Given the description of an element on the screen output the (x, y) to click on. 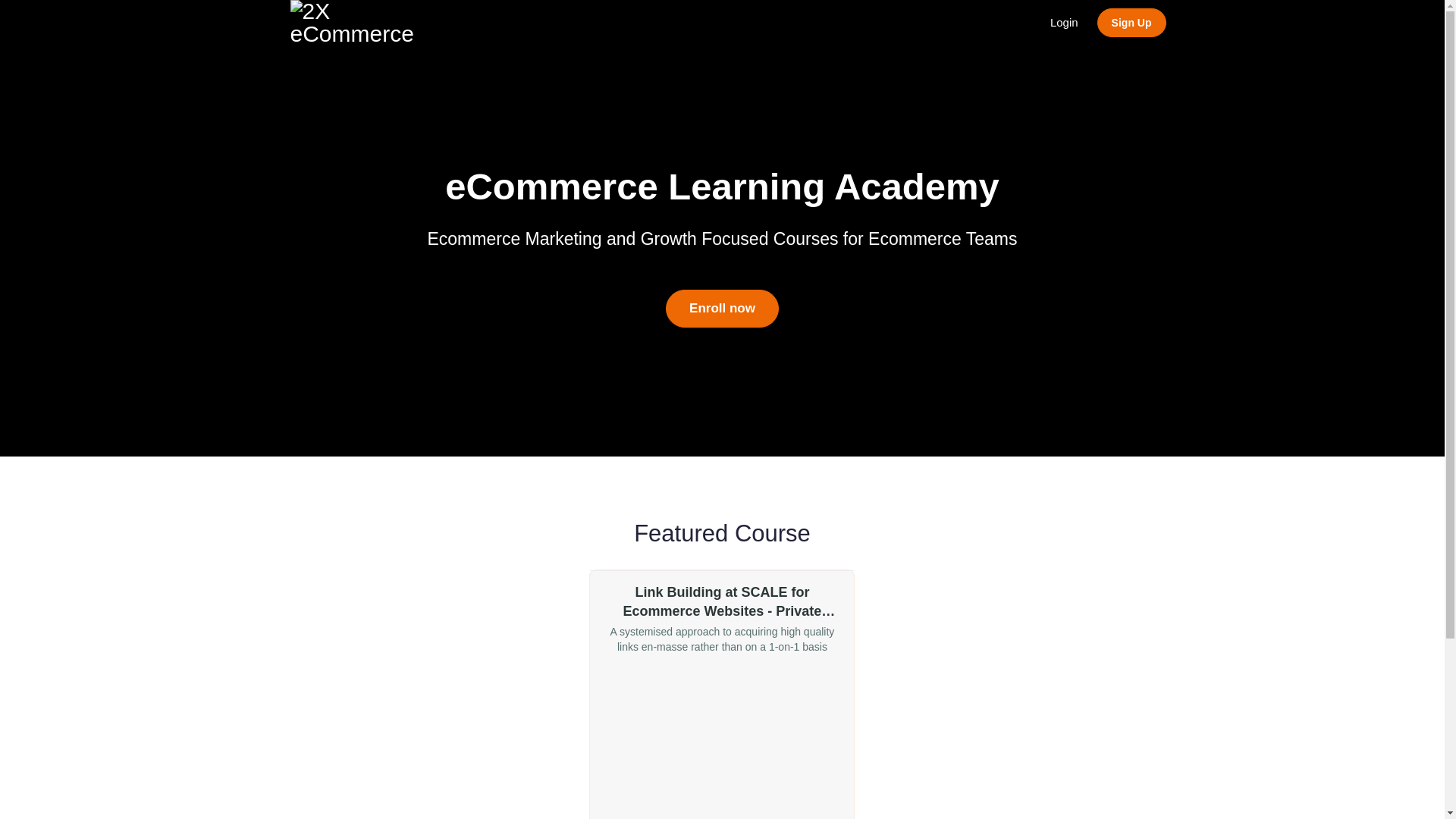
Sign Up Element type: text (1131, 22)
Enroll now Element type: text (721, 308)
Login Element type: text (1063, 22)
